Given the description of an element on the screen output the (x, y) to click on. 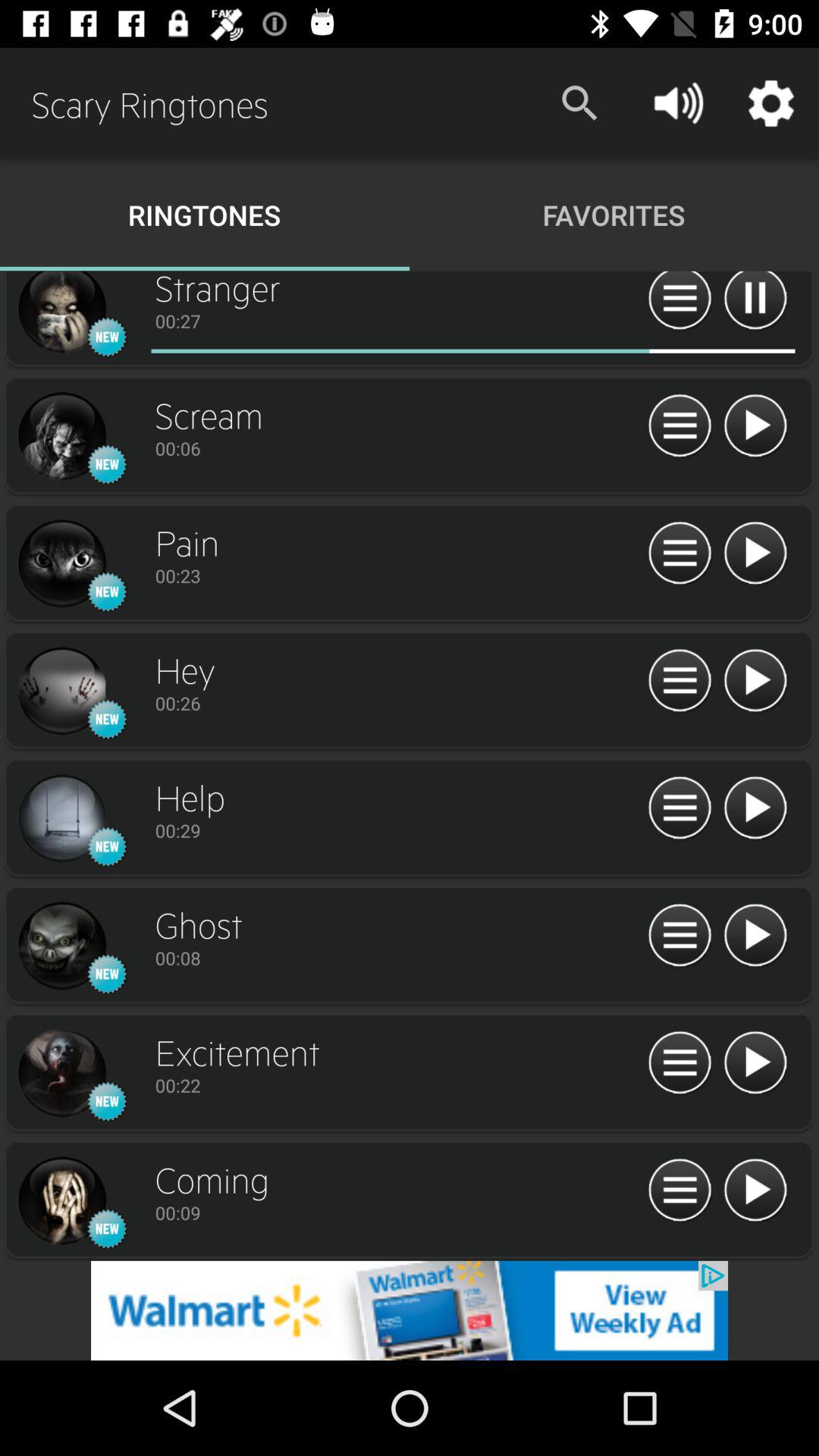
play (755, 681)
